Given the description of an element on the screen output the (x, y) to click on. 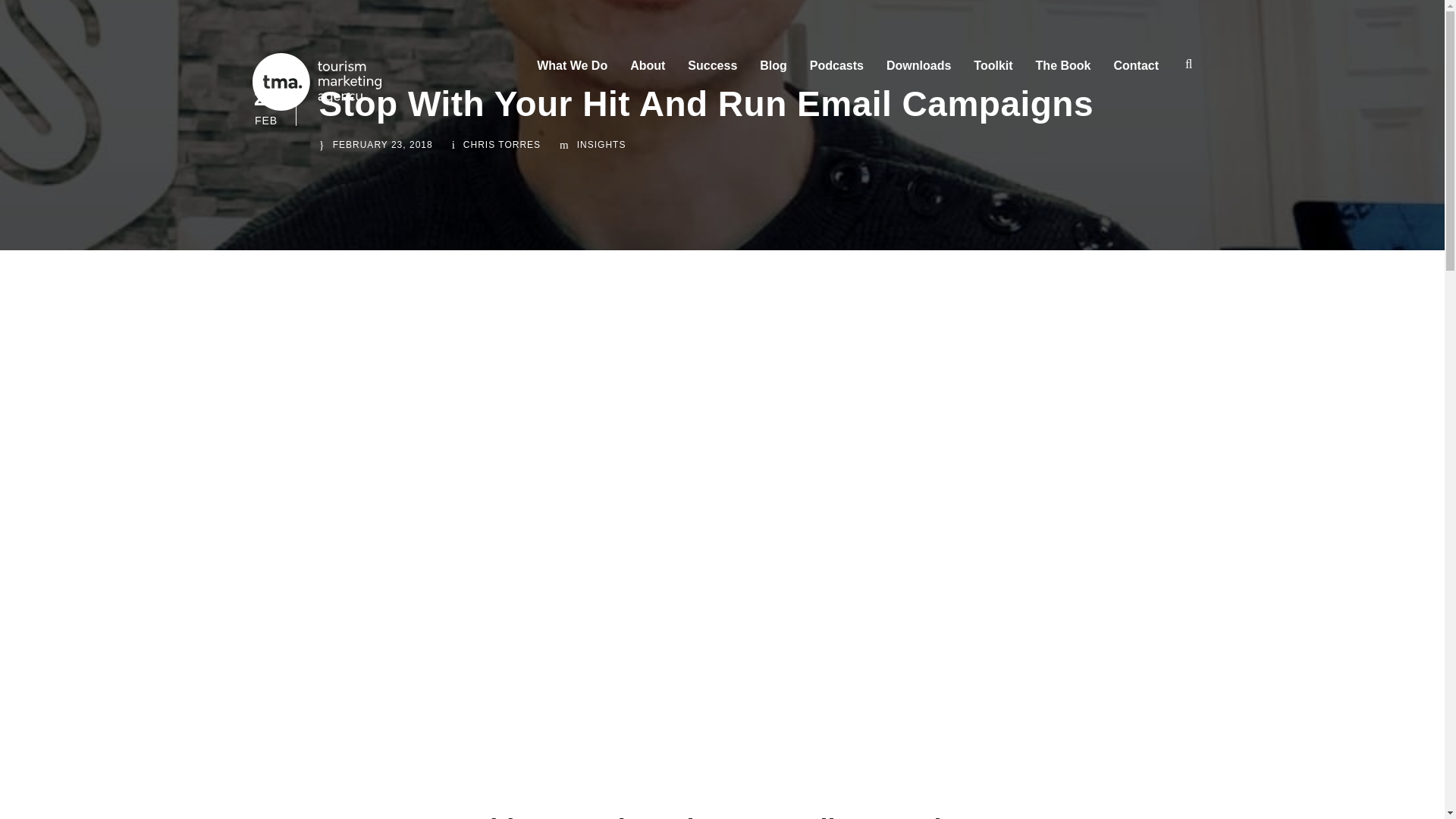
CHRIS TORRES (501, 144)
The Book (1062, 72)
Toolkit (992, 72)
Podcasts (836, 72)
Success (711, 72)
Posts by Chris Torres (501, 144)
Contact (1135, 72)
INSIGHTS (601, 144)
What We Do (572, 72)
FEBRUARY 23, 2018 (382, 144)
